Given the description of an element on the screen output the (x, y) to click on. 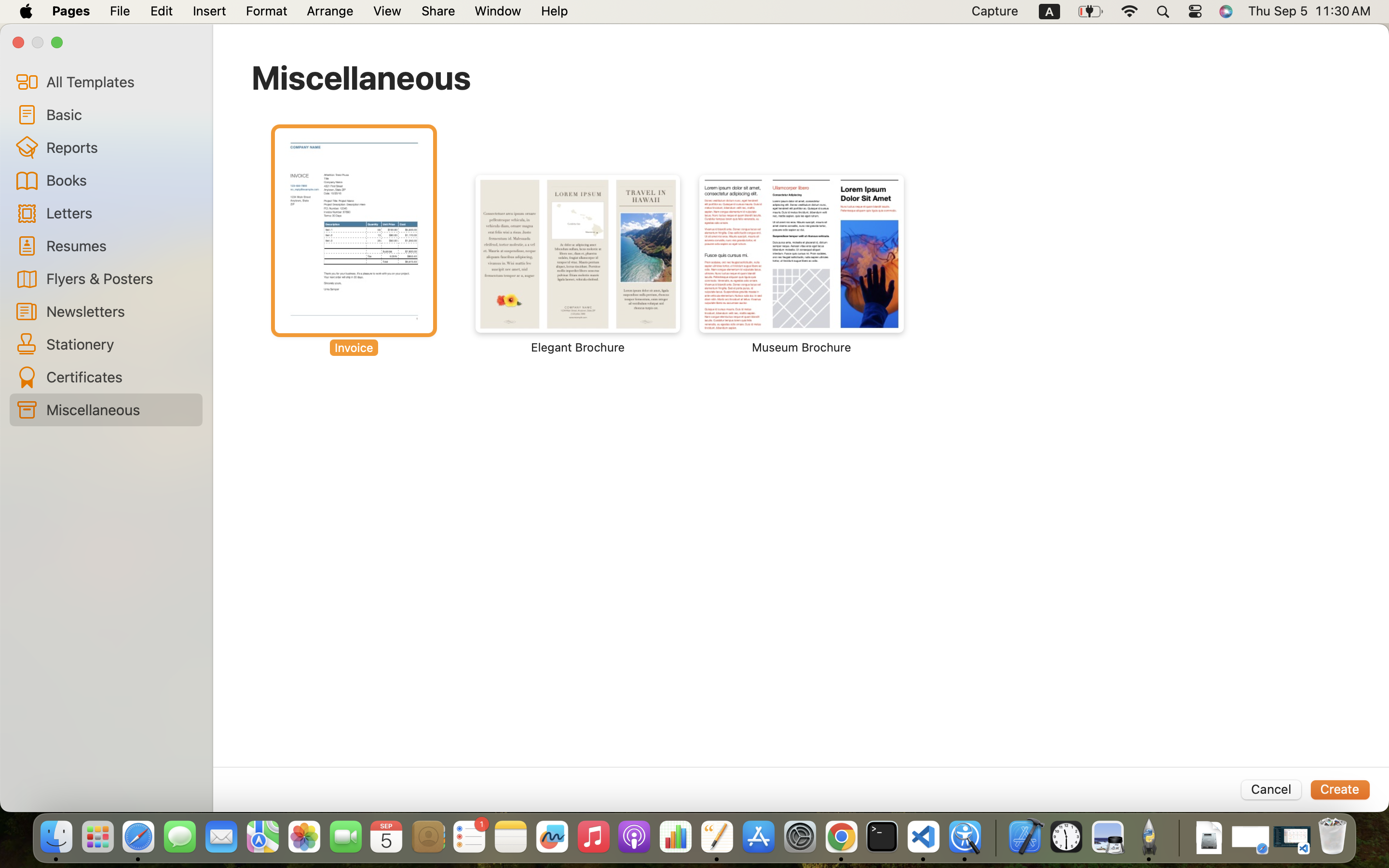
Miscellaneous Element type: AXStaticText (360, 76)
All Templates Element type: AXStaticText (120, 81)
Flyers & Posters Element type: AXStaticText (120, 278)
Newsletters Element type: AXStaticText (120, 310)
Basic Element type: AXStaticText (120, 114)
